Given the description of an element on the screen output the (x, y) to click on. 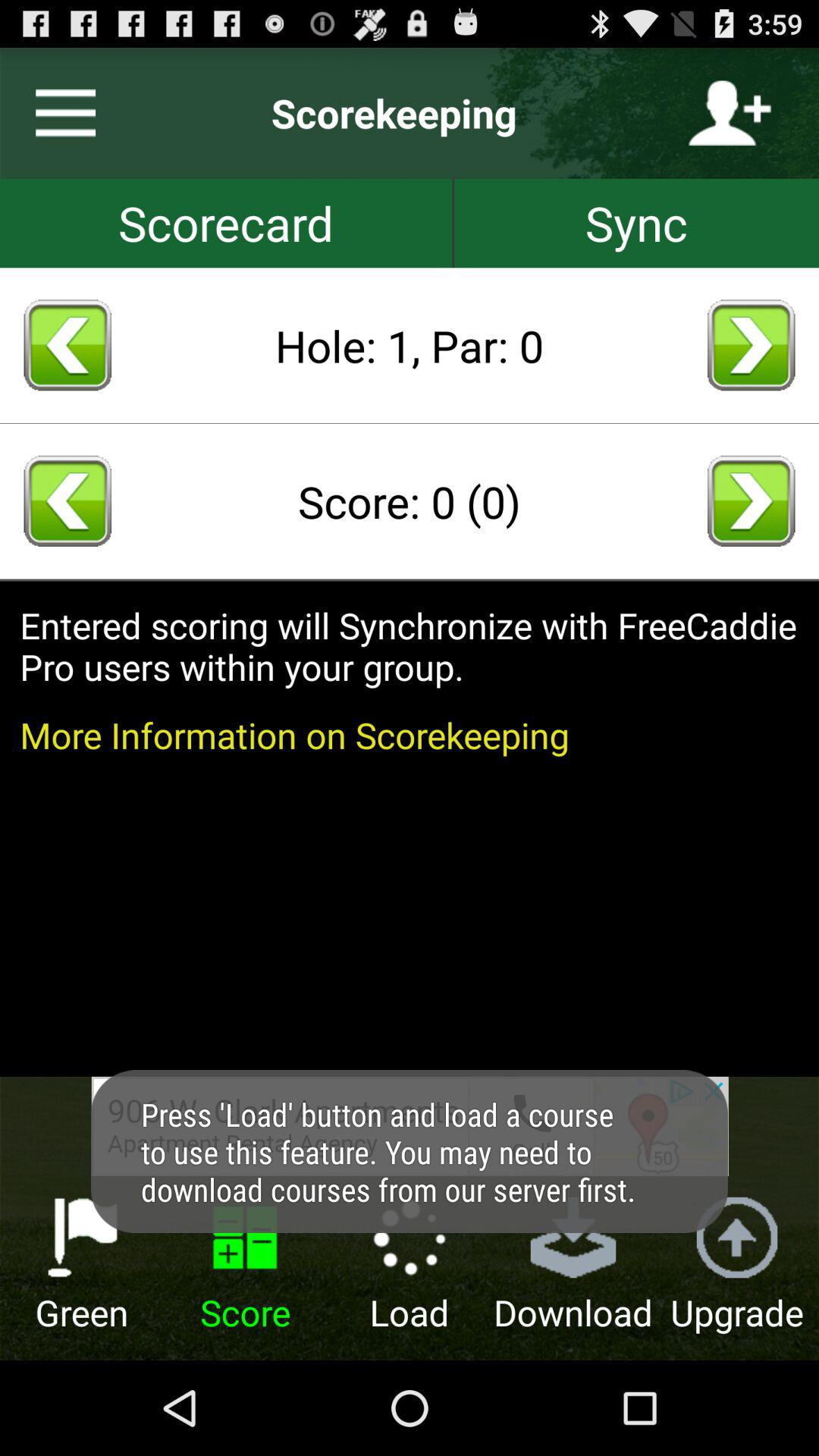
open advertisement (409, 1126)
